Given the description of an element on the screen output the (x, y) to click on. 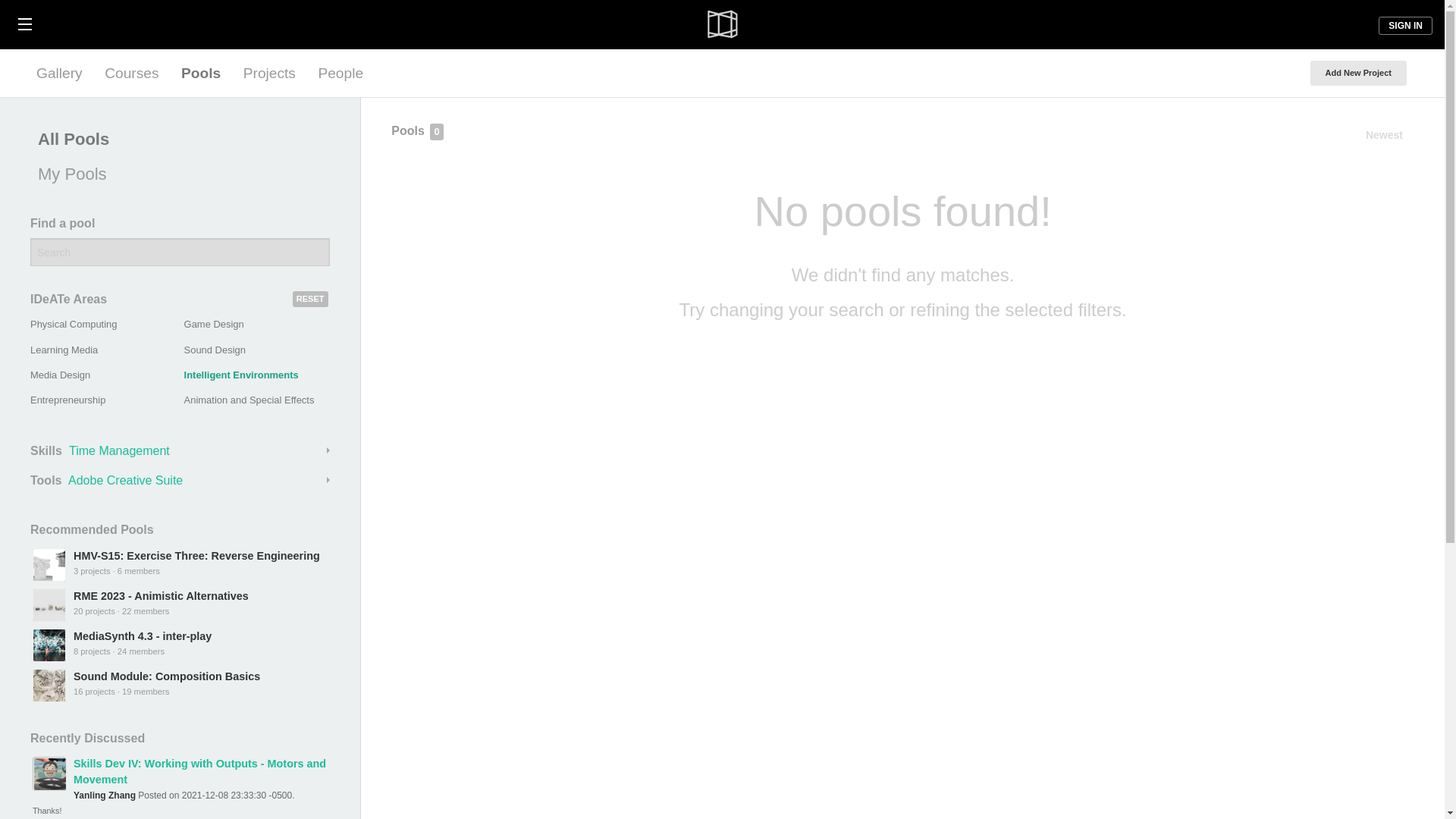
Courses (131, 73)
People (340, 73)
Pools (200, 73)
Gallery (59, 73)
Media Design (60, 374)
My Pools (175, 174)
Entrepreneurship (67, 399)
Intelligent Environments (241, 374)
Physical Computing (73, 324)
Animation and Special Effects (249, 399)
RESET (310, 299)
Game Design (214, 324)
All Pools (175, 139)
Add New Project (1358, 72)
Skills Time Management (180, 451)
